Given the description of an element on the screen output the (x, y) to click on. 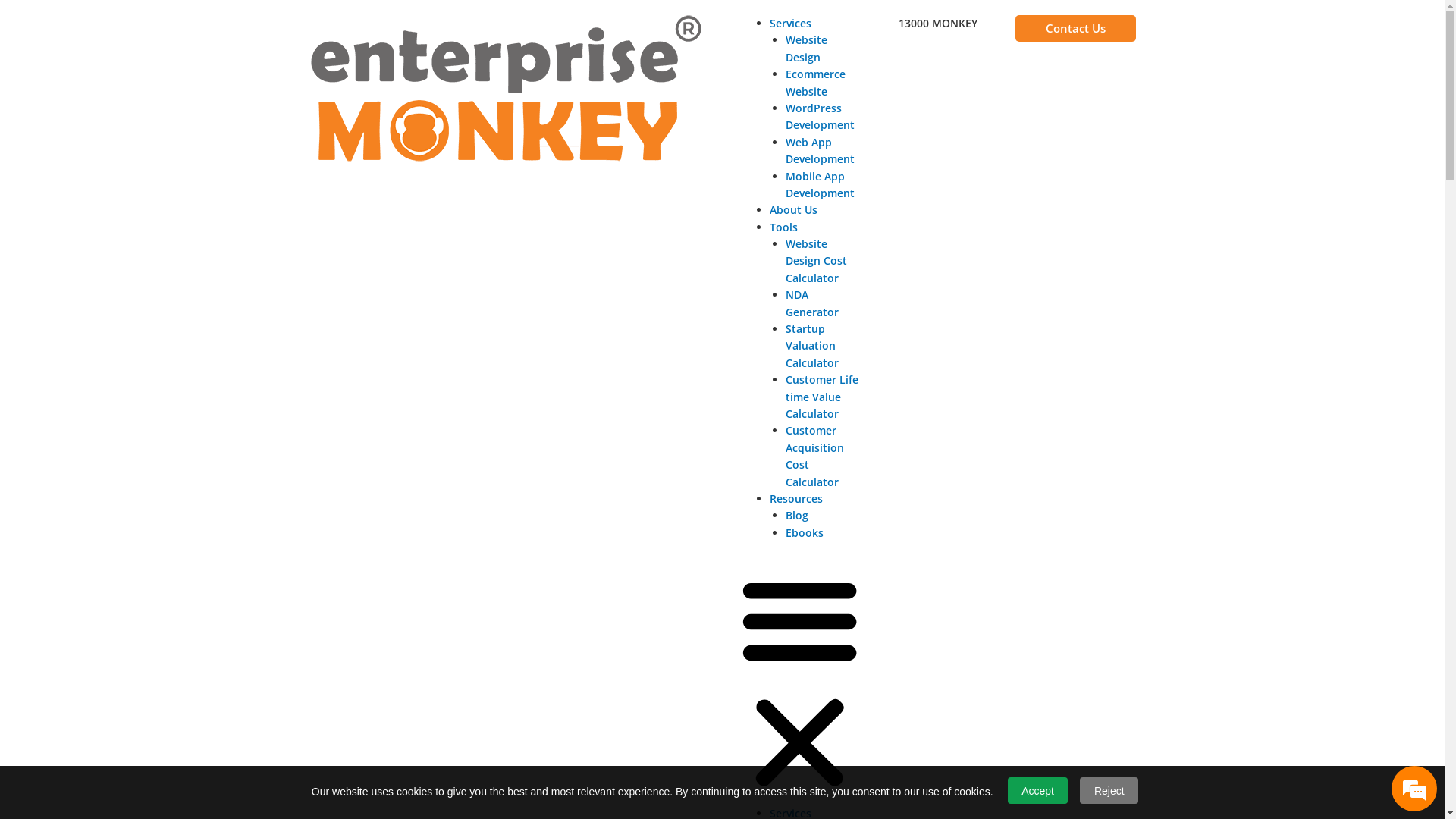
Web App Development Element type: text (819, 150)
Ecommerce Website Element type: text (815, 81)
NDA Generator Element type: text (811, 302)
Website Design Element type: text (806, 47)
Website Design Cost Calculator Element type: text (816, 260)
Mobile App Development Element type: text (819, 184)
Tools Element type: text (782, 226)
Blog Element type: text (796, 515)
Ebooks Element type: text (804, 532)
Services Element type: text (789, 22)
Customer Acquisition Cost Calculator Element type: text (814, 455)
About Us Element type: text (792, 209)
Resources Element type: text (795, 498)
Customer Life time Value Calculator Element type: text (821, 396)
Contact Us Element type: text (1075, 28)
Startup Valuation Calculator Element type: text (811, 345)
13000 MONKEY Element type: text (937, 22)
WordPress Development Element type: text (819, 115)
